Given the description of an element on the screen output the (x, y) to click on. 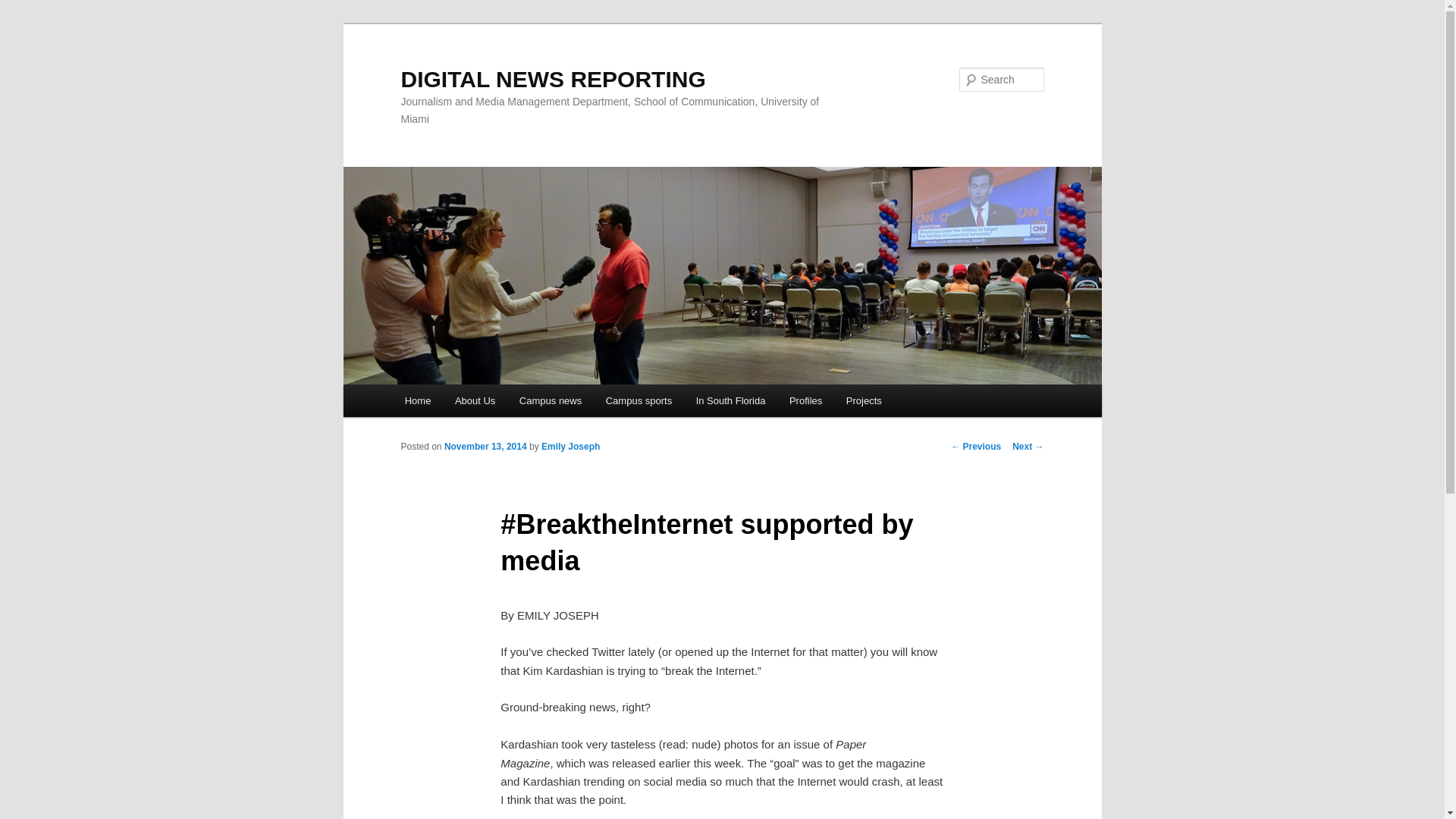
DIGITAL NEWS REPORTING (552, 78)
Campus news (550, 400)
Search (24, 8)
View all posts by Emily Joseph (570, 446)
8:04 pm (485, 446)
About Us (474, 400)
Home (417, 400)
